Given the description of an element on the screen output the (x, y) to click on. 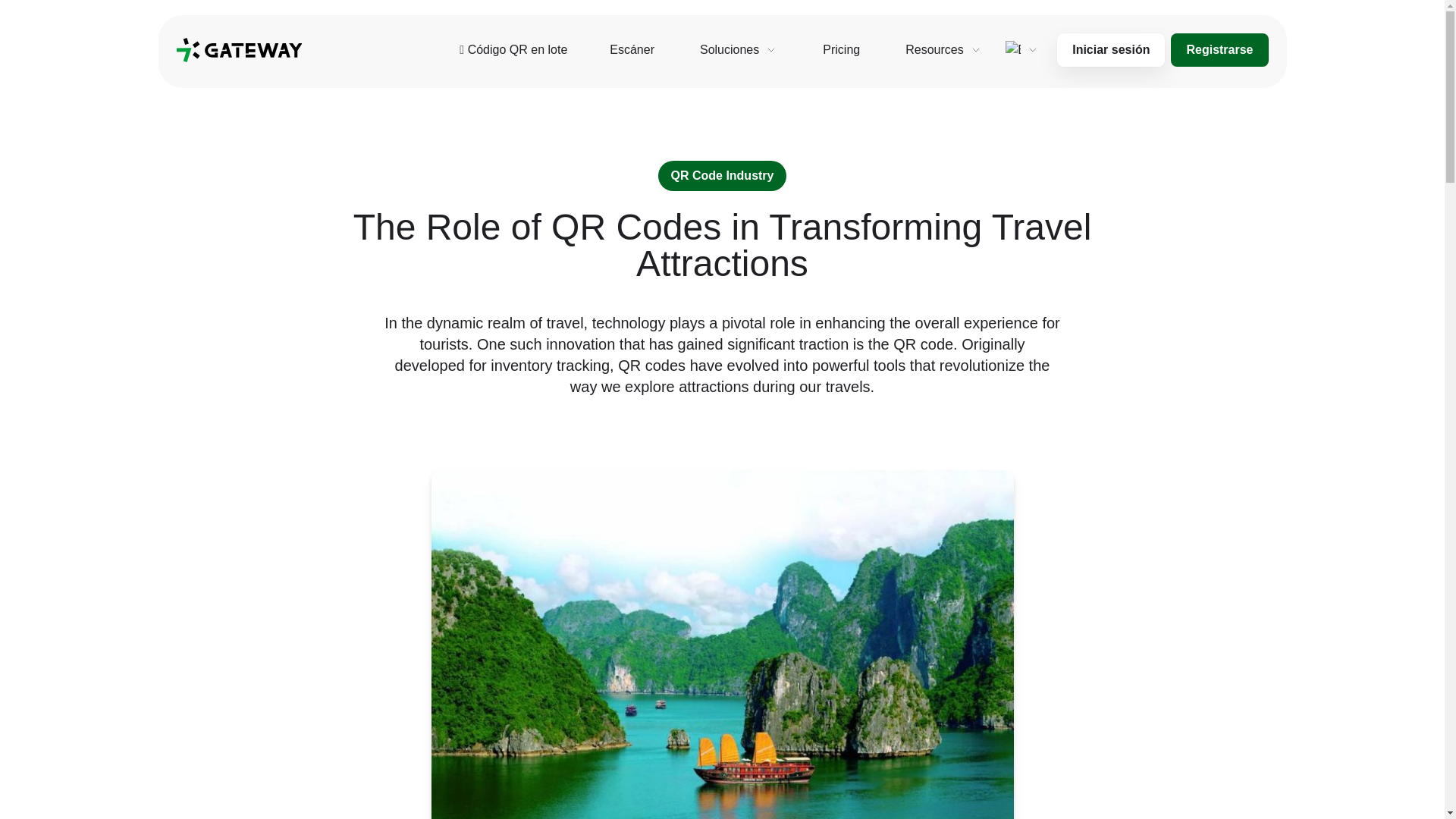
Resources (942, 49)
Registrarse (1219, 49)
Pricing (841, 49)
QRGateway (238, 49)
Soluciones (738, 49)
